Given the description of an element on the screen output the (x, y) to click on. 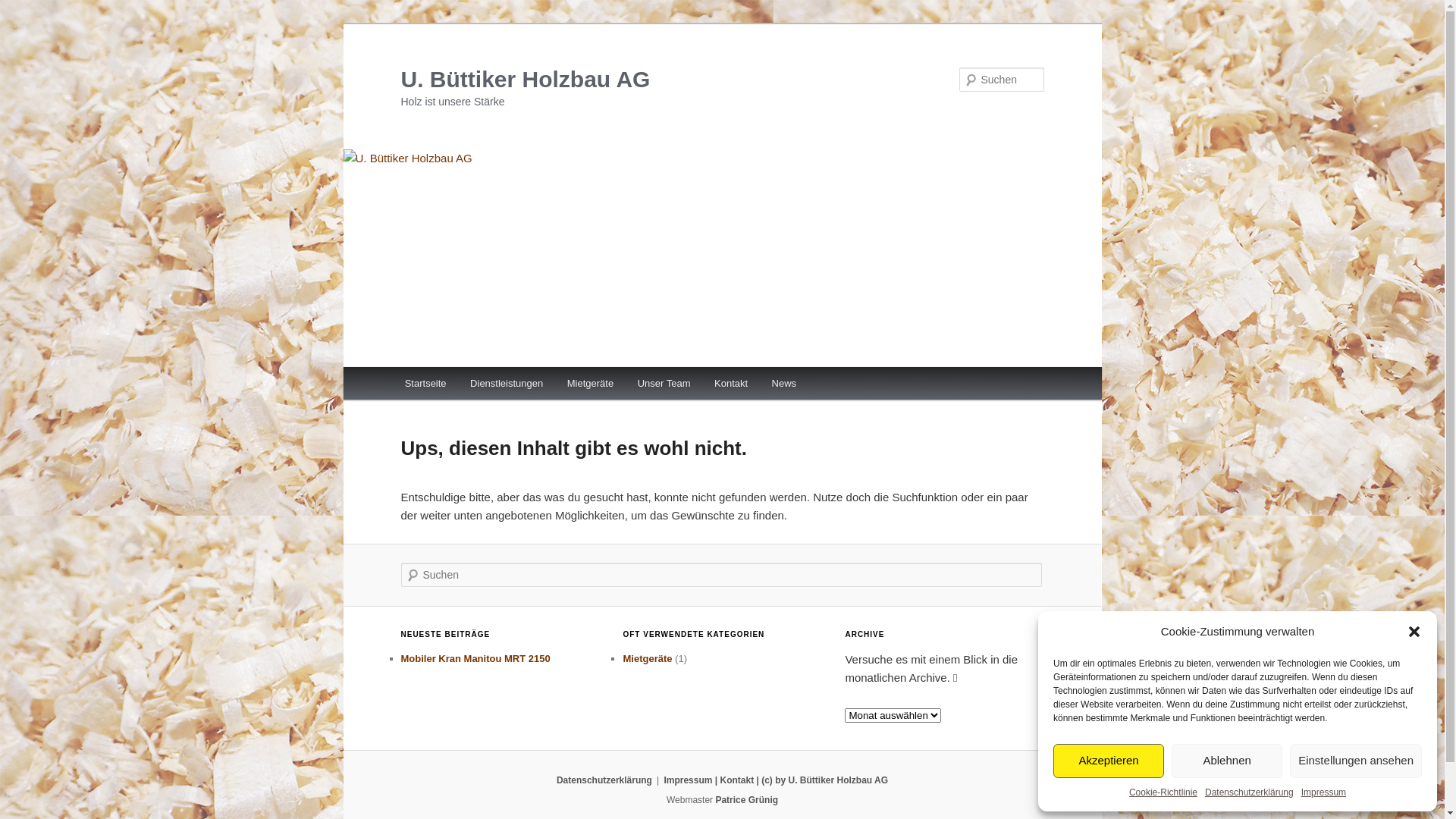
Dienstleistungen Element type: text (506, 383)
News Element type: text (783, 383)
Kontakt | Element type: text (738, 780)
Akzeptieren Element type: text (1108, 760)
Unser Team Element type: text (663, 383)
Kontakt Element type: text (730, 383)
Einstellungen ansehen Element type: text (1355, 760)
Suchen Element type: text (25, 8)
Cookie-Richtlinie Element type: text (1163, 792)
Ablehnen Element type: text (1226, 760)
Impressum Element type: text (1323, 792)
Zum Inhalt wechseln Element type: text (22, 22)
Mobiler Kran Manitou MRT 2150 Element type: text (474, 658)
Startseite Element type: text (425, 383)
Impressum | Element type: text (691, 780)
